Given the description of an element on the screen output the (x, y) to click on. 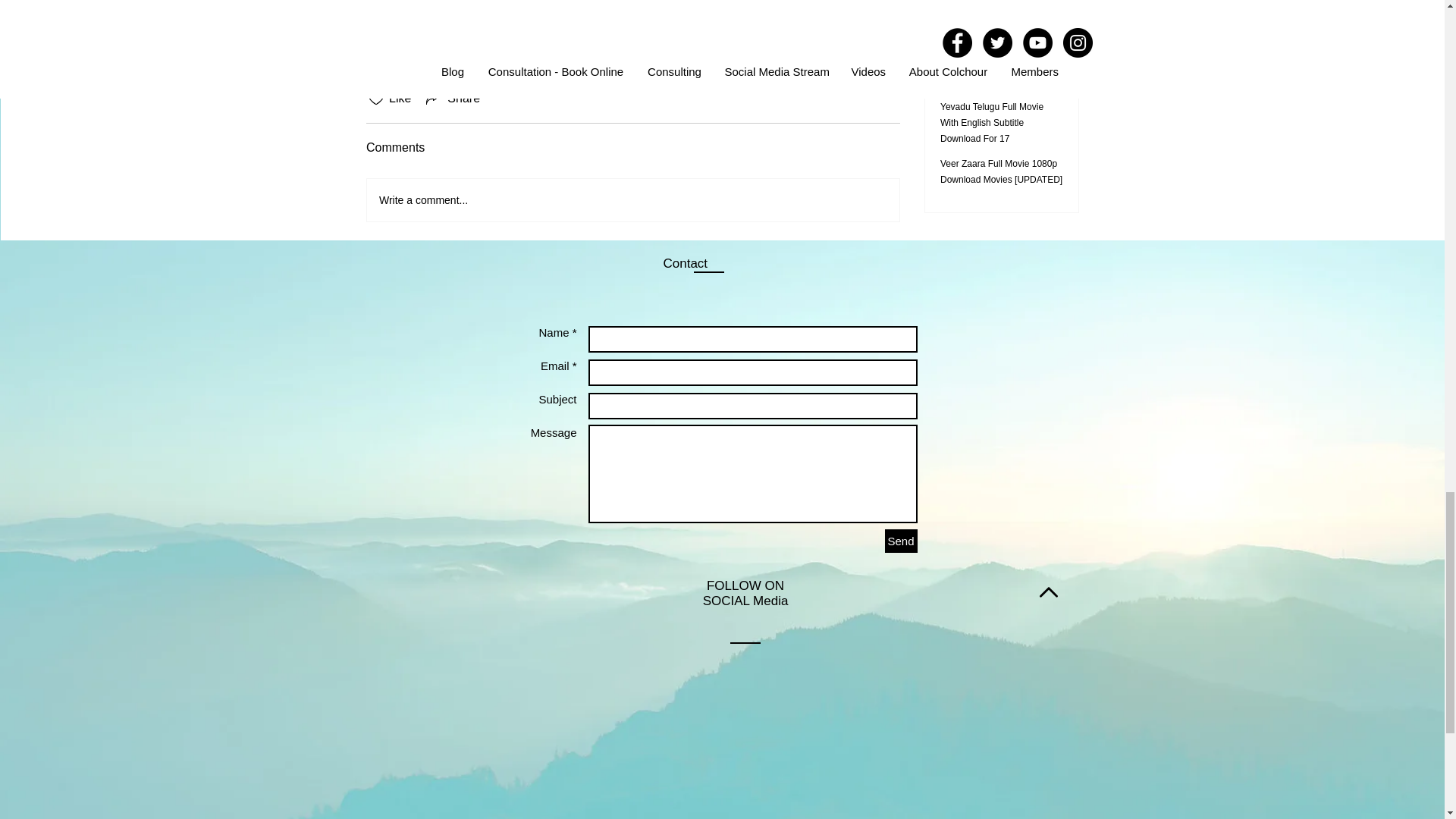
Write a comment... (632, 200)
Send (900, 540)
Share (451, 98)
